Given the description of an element on the screen output the (x, y) to click on. 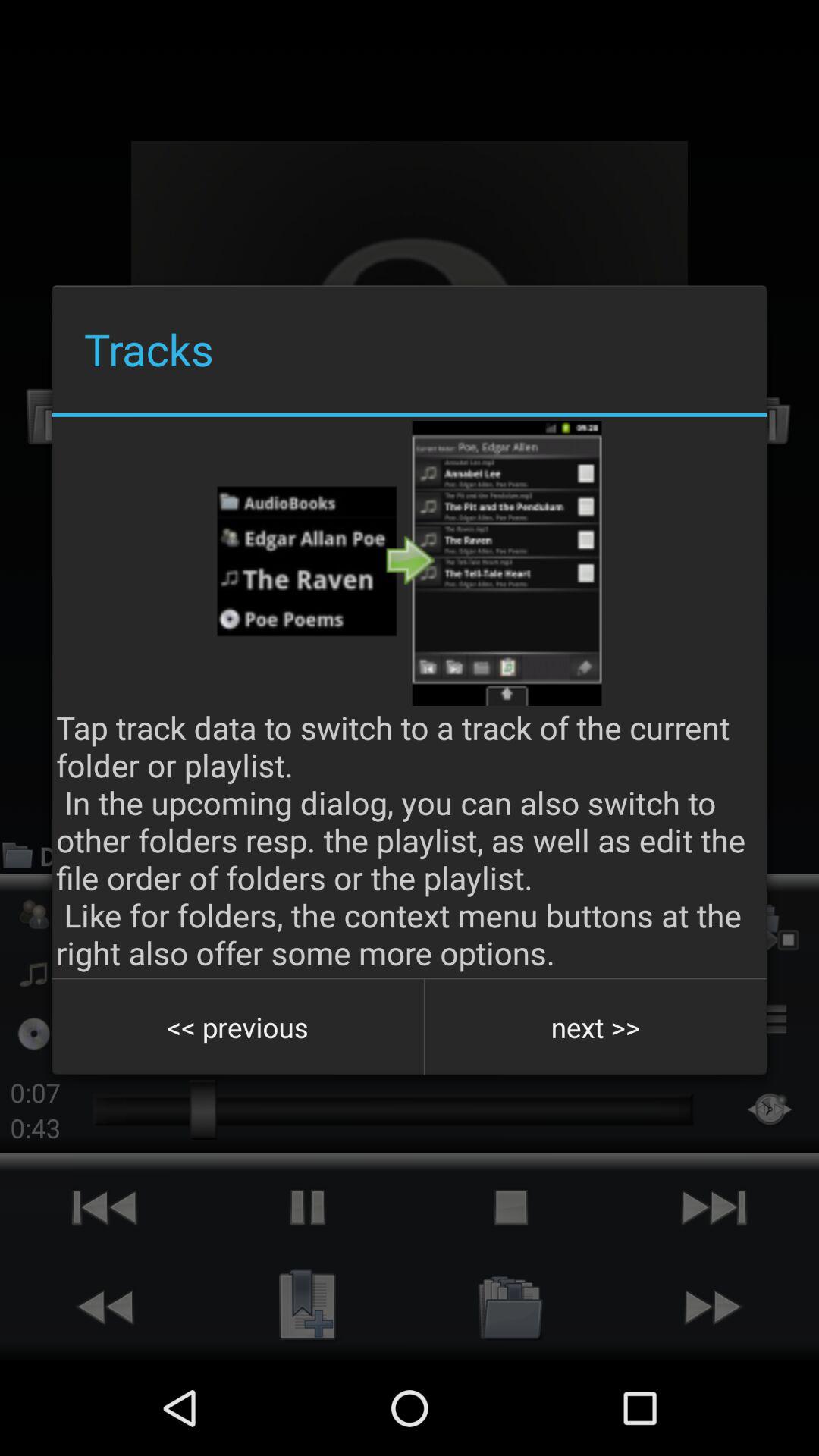
choose item to the left of the next >> (237, 1026)
